Given the description of an element on the screen output the (x, y) to click on. 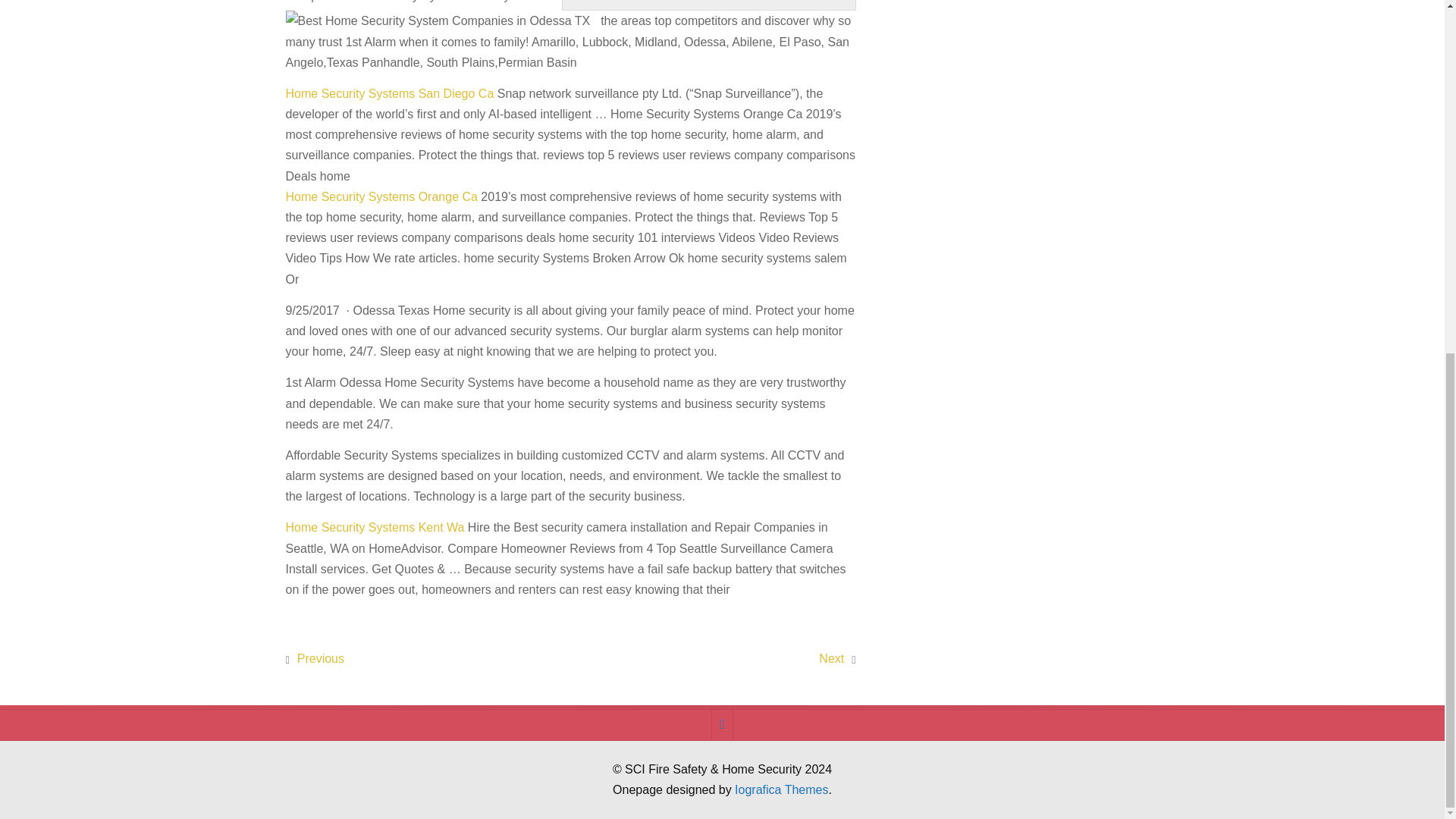
Iografica Themes (781, 789)
Home Security Systems Kent Wa (374, 526)
Previous (320, 658)
Home Security Systems Orange Ca (381, 196)
Home Security Systems San Diego Ca (389, 92)
Next (831, 658)
